Given the description of an element on the screen output the (x, y) to click on. 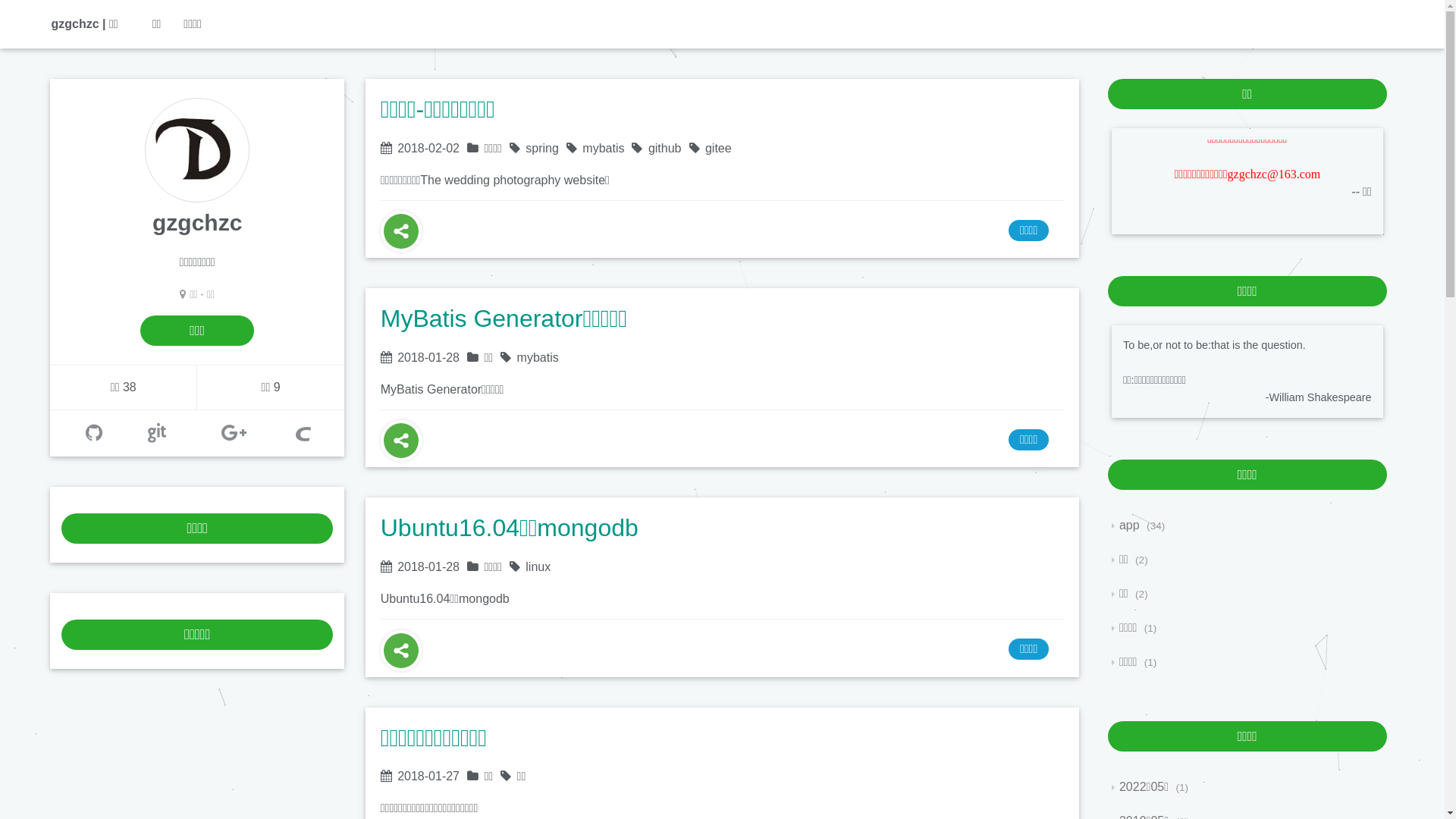
csdn Element type: hover (302, 432)
linux Element type: text (537, 566)
github Element type: hover (93, 432)
spring Element type: text (541, 147)
2018-01-28 Element type: text (428, 357)
2018-02-02 Element type: text (428, 147)
mybatis Element type: text (537, 357)
OSC Element type: hover (156, 432)
mybatis Element type: text (603, 147)
2018-01-28 Element type: text (428, 566)
google+ Element type: hover (233, 432)
app Element type: text (1125, 524)
gitee Element type: text (718, 147)
github Element type: text (664, 147)
2018-01-27 Element type: text (428, 775)
